Given the description of an element on the screen output the (x, y) to click on. 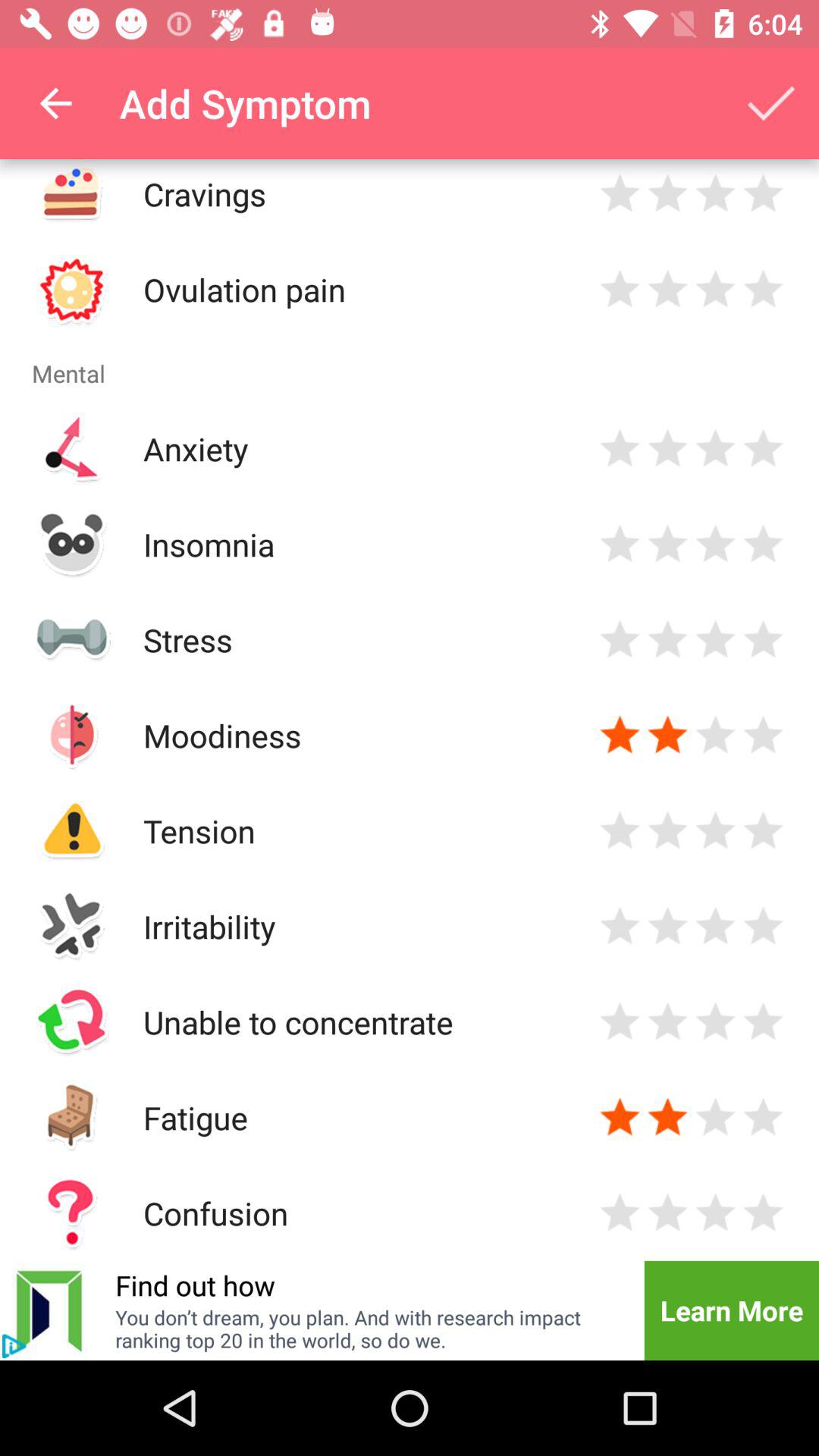
rate cravings 3 stars (715, 193)
